Given the description of an element on the screen output the (x, y) to click on. 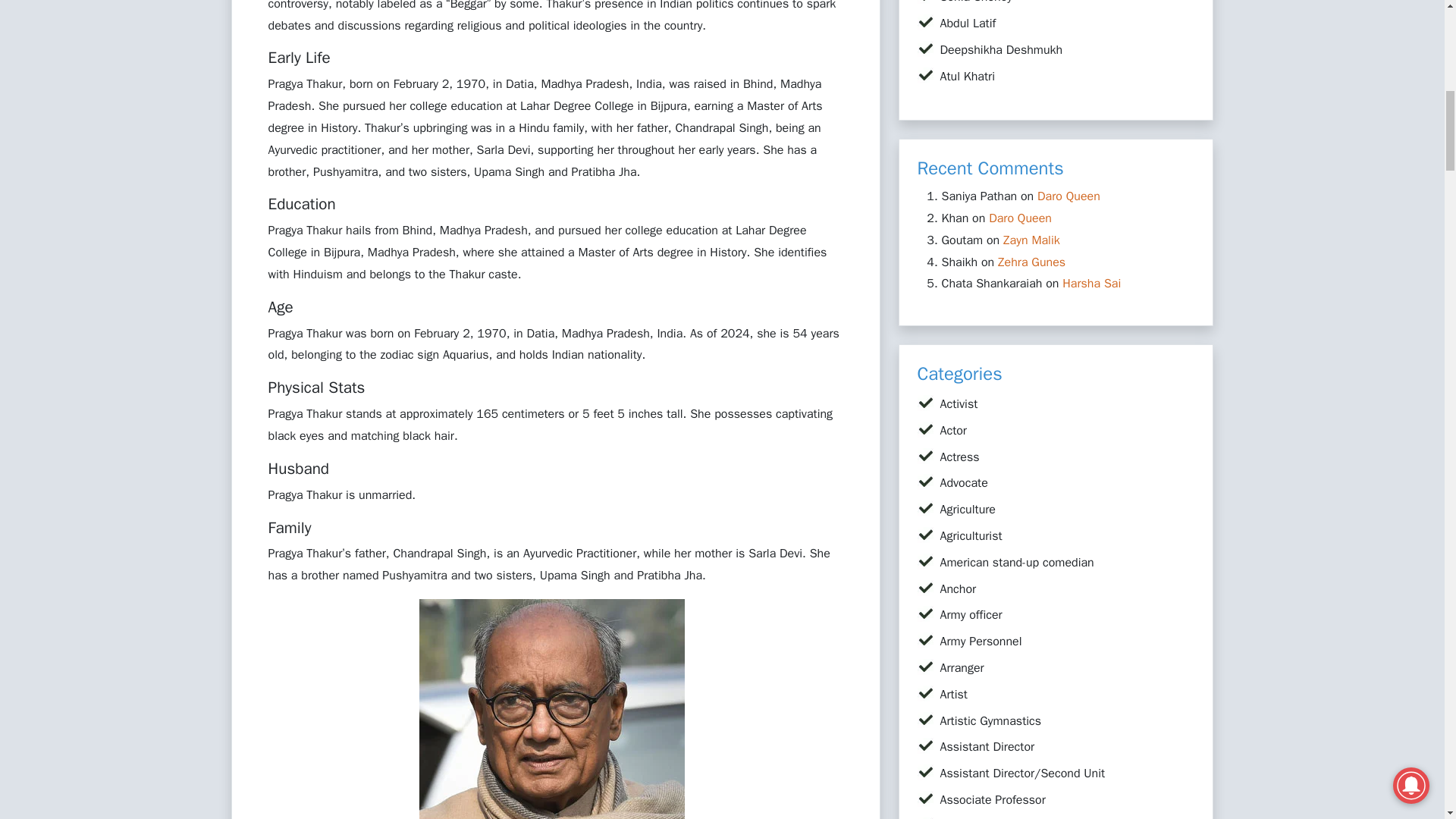
Arranger (962, 667)
Activist (959, 403)
Army officer (971, 614)
Atul Khatri (967, 76)
Actress (959, 457)
Advocate (964, 482)
Daro Queen (1019, 218)
Army Personnel (981, 641)
Harsha Sai (1091, 283)
Artist (954, 694)
Agriculturist (971, 535)
Zayn Malik (1031, 240)
Zehra Gunes (1031, 262)
Agriculture (967, 509)
Anchor (958, 589)
